Given the description of an element on the screen output the (x, y) to click on. 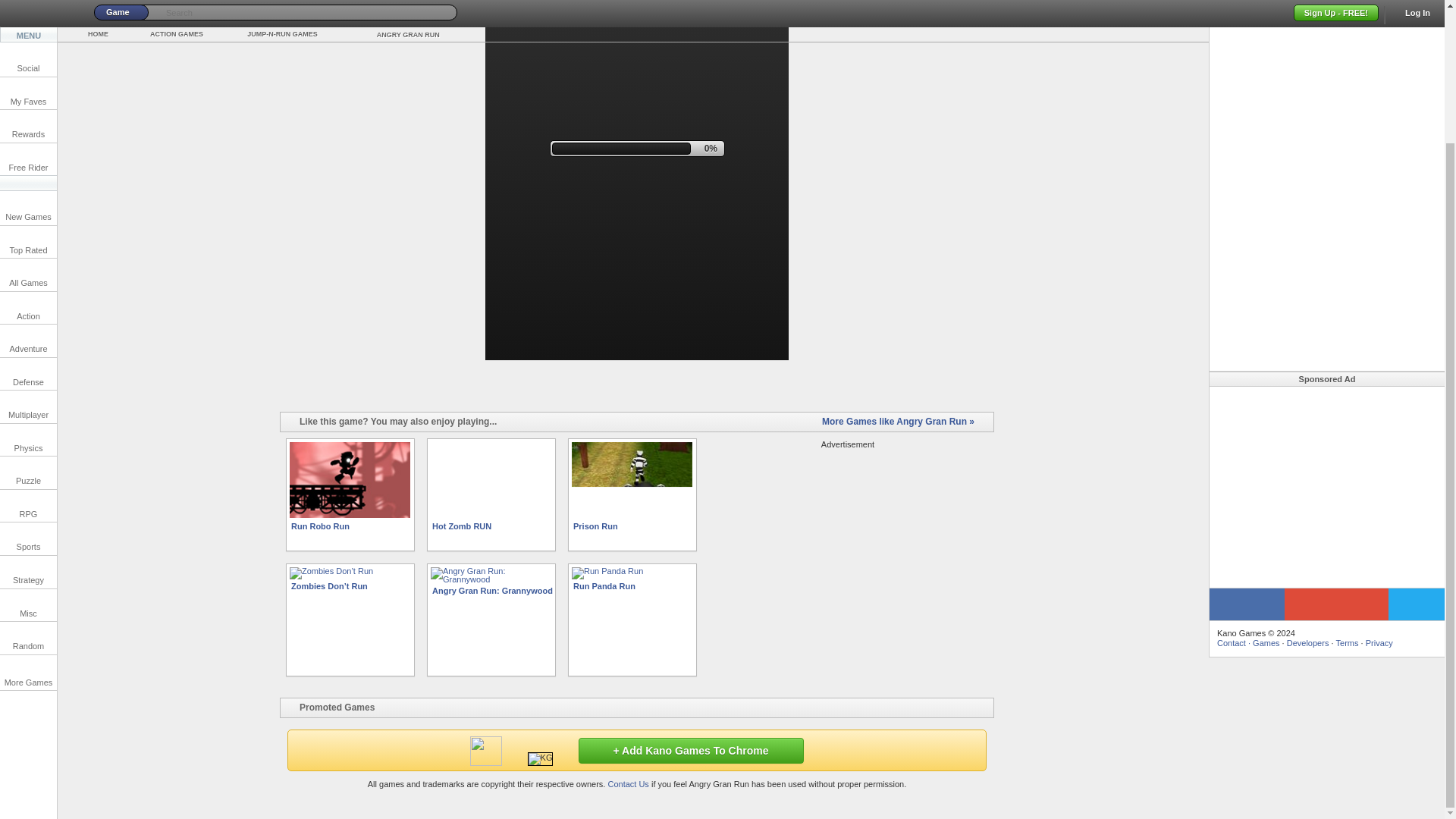
Defense (28, 211)
Strategy (28, 409)
RPG (28, 343)
Action (28, 145)
Physics (28, 277)
Sports (28, 376)
KG (540, 758)
Multiplayer (28, 244)
New Games (28, 46)
Adventure (28, 178)
